Given the description of an element on the screen output the (x, y) to click on. 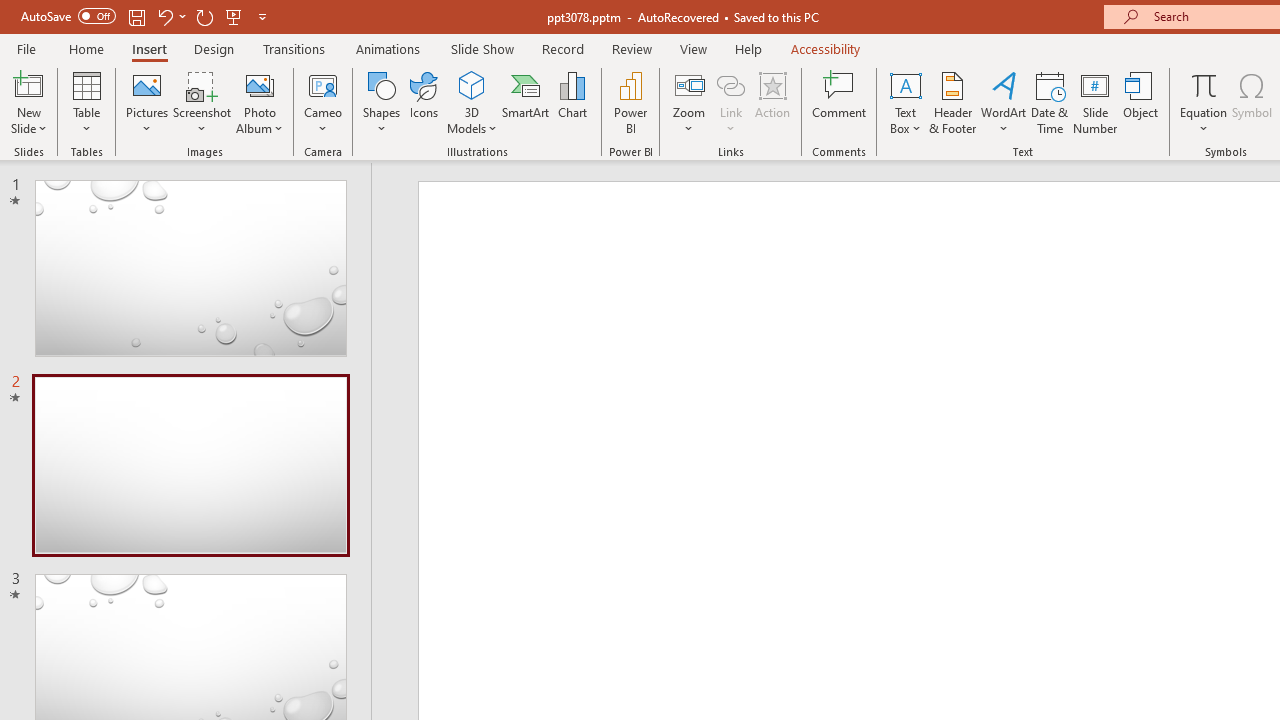
SmartArt... (525, 102)
Slide Number (1095, 102)
3D Models (472, 102)
Chart... (572, 102)
Photo Album... (259, 102)
Header & Footer... (952, 102)
3D Models (472, 84)
Symbol... (1252, 102)
